Given the description of an element on the screen output the (x, y) to click on. 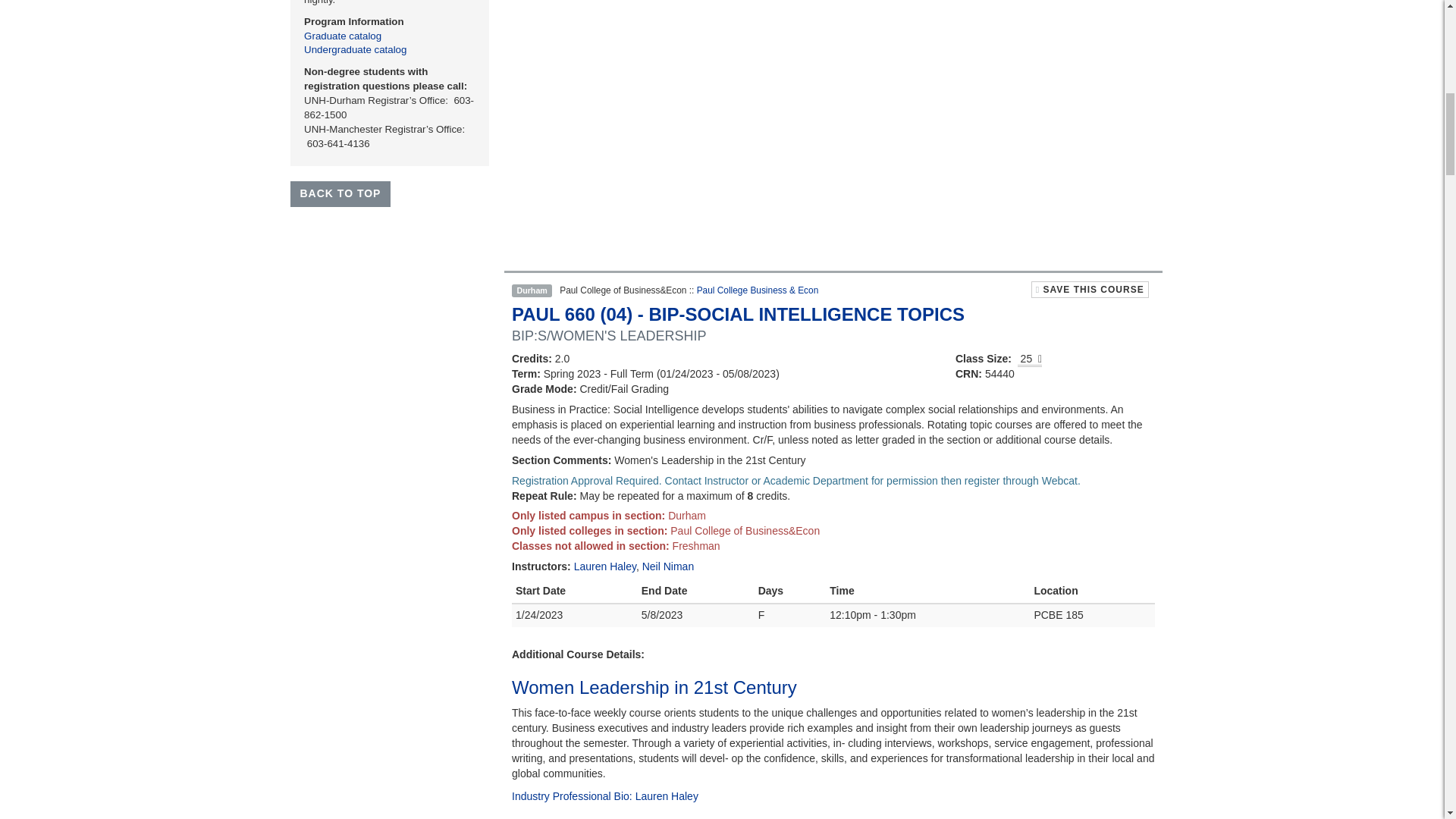
YouTube video player (724, 128)
Lauren Haley (604, 566)
SAVE THIS COURSE (1089, 289)
Durham (531, 290)
